Given the description of an element on the screen output the (x, y) to click on. 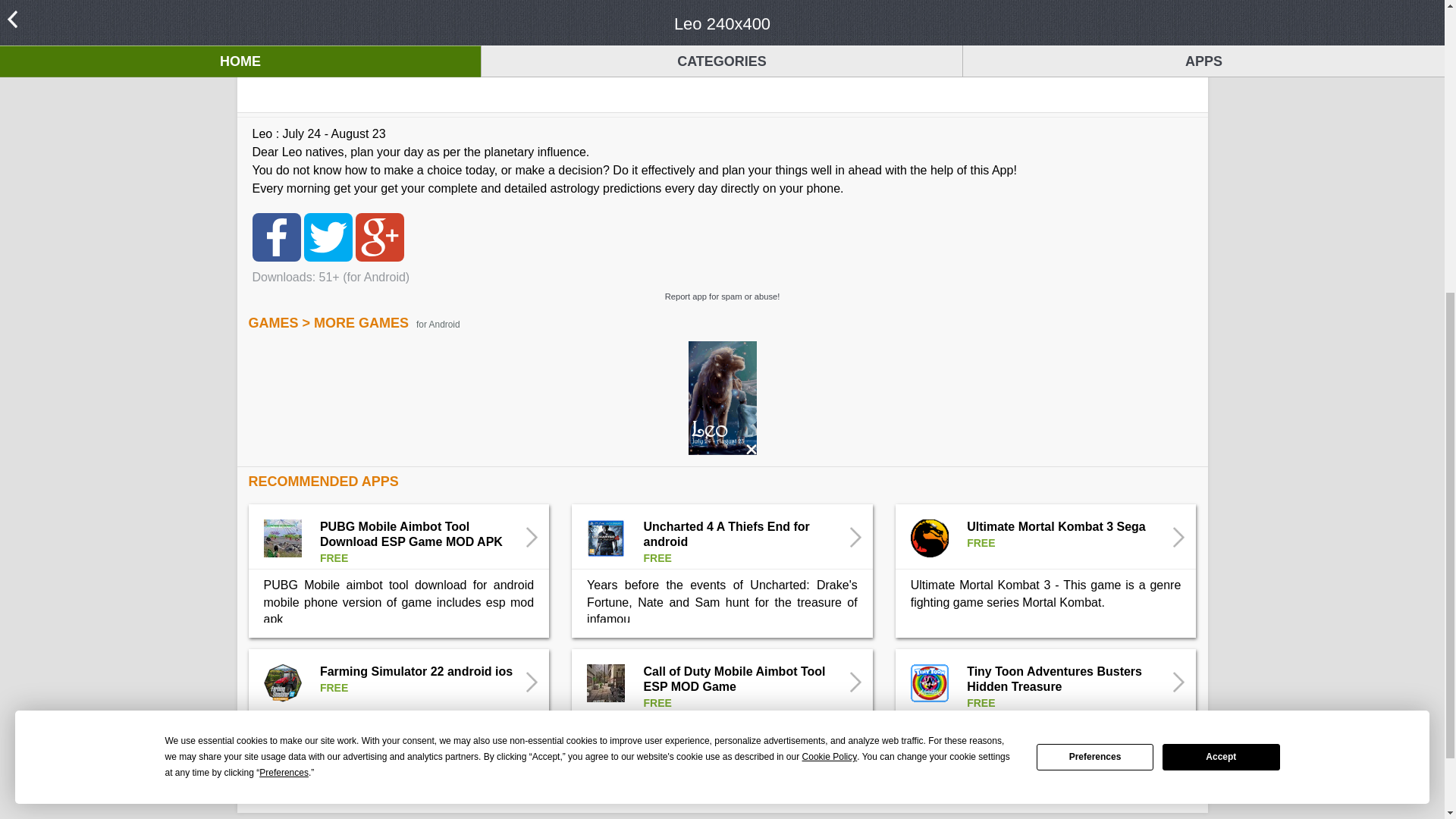
Share on Facebook (275, 236)
GAMES (273, 322)
Tweet (328, 236)
Preferences (283, 278)
Accept (1220, 262)
Report app for spam or abuse! (721, 296)
Cookie Policy (829, 262)
Preferences (1094, 262)
MORE GAMES (361, 322)
